Given the description of an element on the screen output the (x, y) to click on. 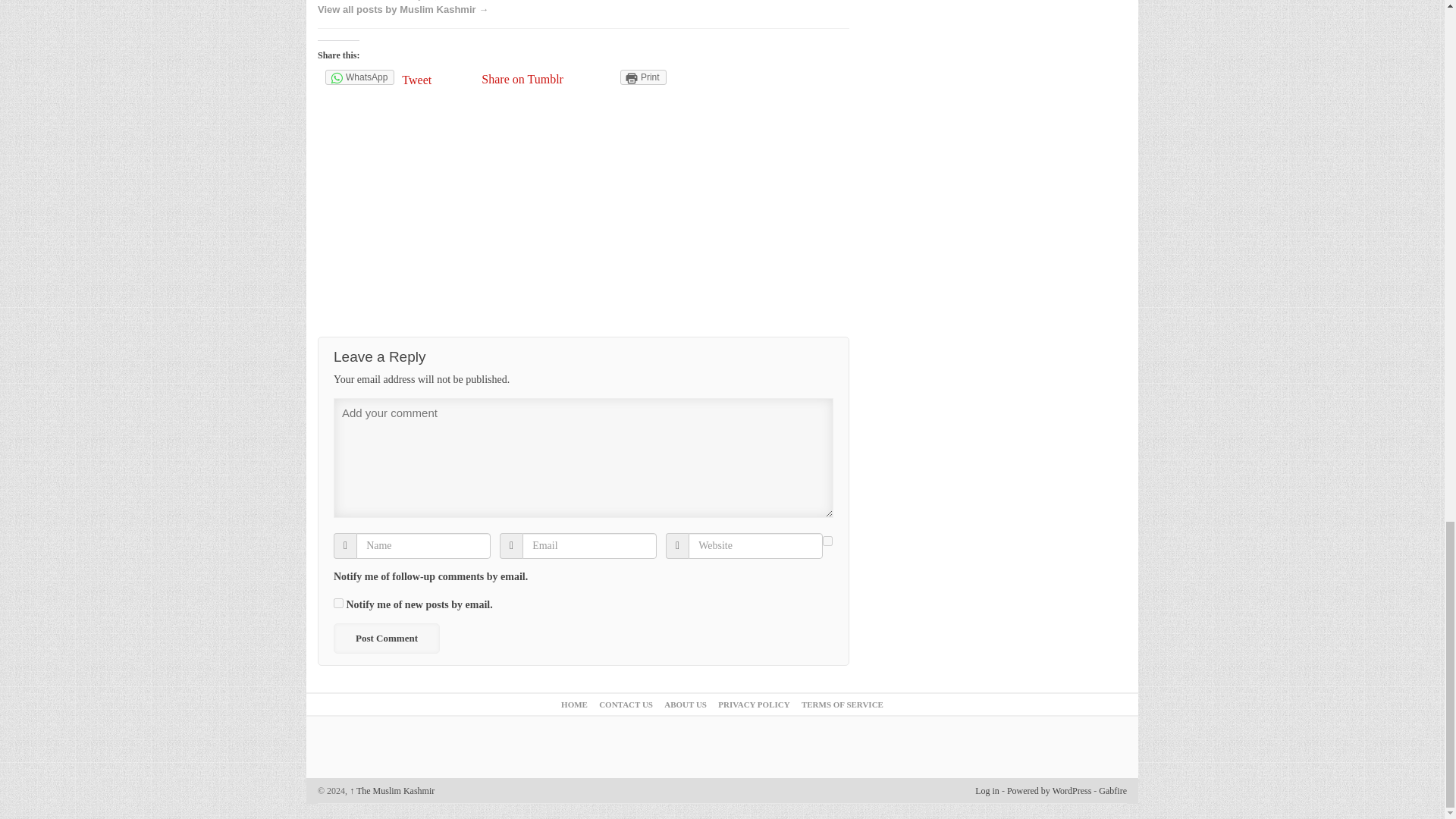
Post Comment (386, 638)
Semantic Personal Publishing Platform (1048, 790)
Gabfire IT Solutions (1112, 790)
subscribe (338, 603)
Powered by WordPress (1048, 790)
Gabfire (1112, 790)
PRIVACY POLICY (753, 704)
Print (643, 77)
Tweet (437, 79)
Share on Tumblr (522, 78)
